Given the description of an element on the screen output the (x, y) to click on. 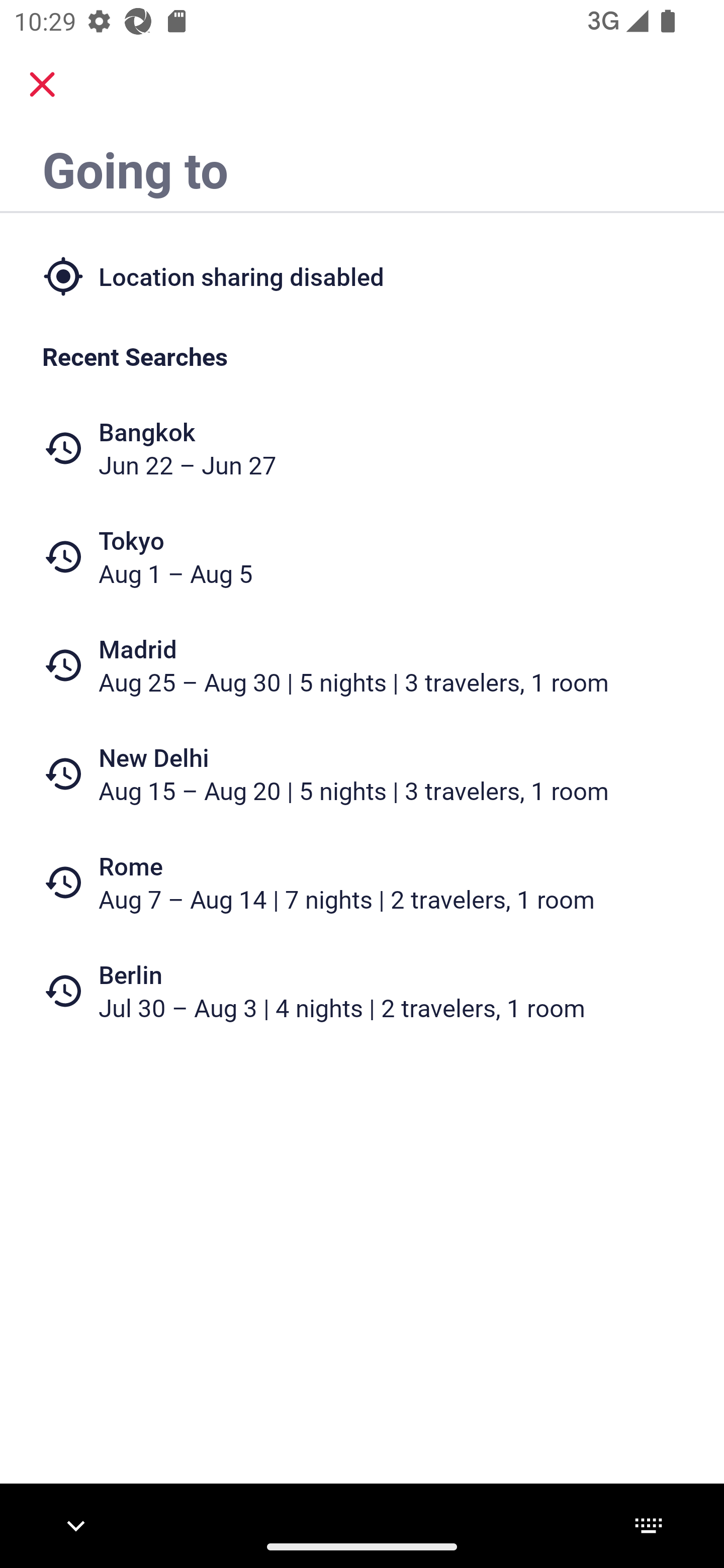
close. (42, 84)
Location sharing disabled (362, 275)
Bangkok Jun 22 – Jun 27 (362, 448)
Tokyo Aug 1 – Aug 5 (362, 557)
